Given the description of an element on the screen output the (x, y) to click on. 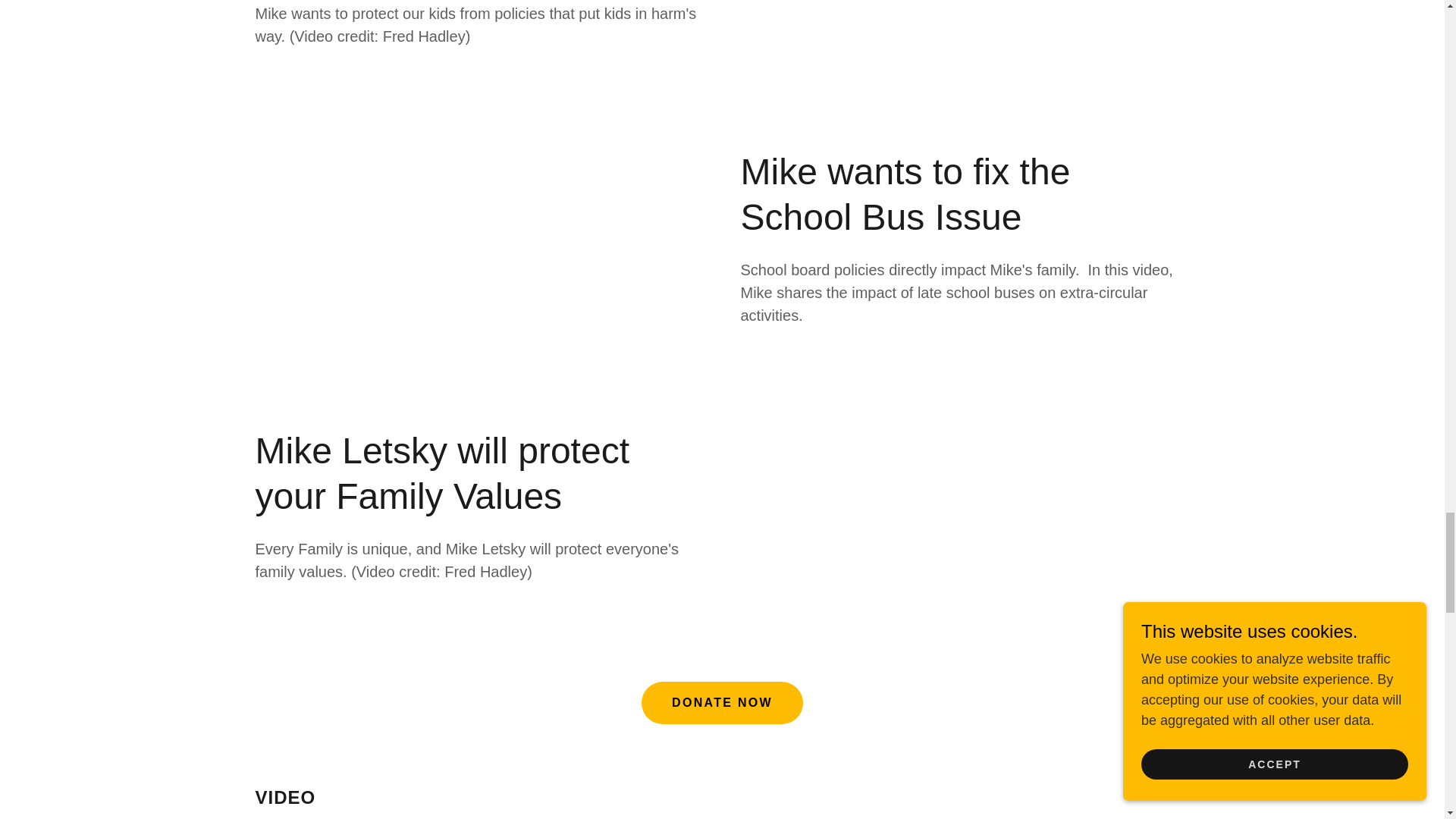
DONATE NOW (722, 702)
